Given the description of an element on the screen output the (x, y) to click on. 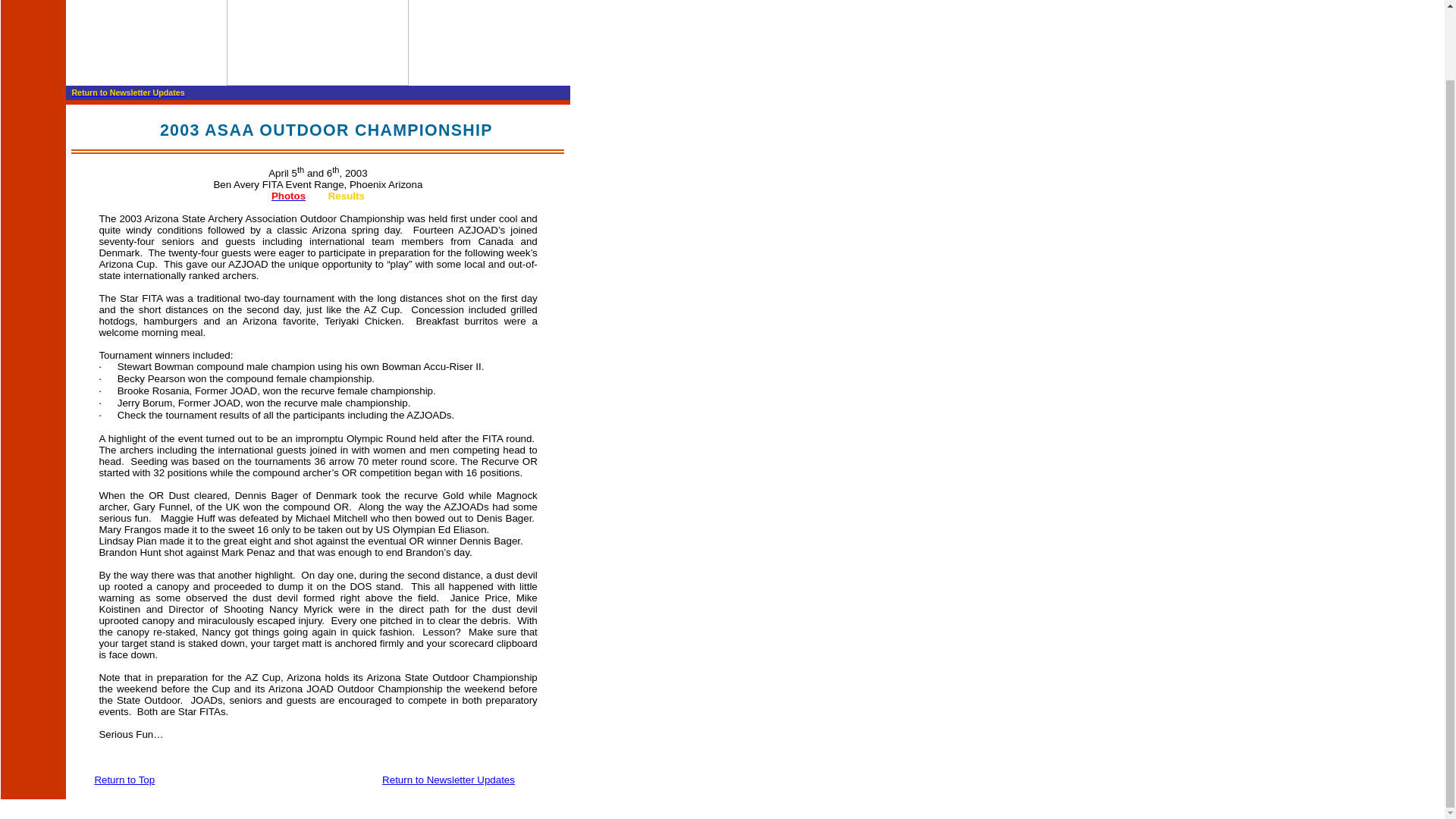
Return to Newsletter Updates (448, 779)
Return to Top (124, 779)
Photos (287, 195)
Return to Newsletter Updates (127, 92)
